Given the description of an element on the screen output the (x, y) to click on. 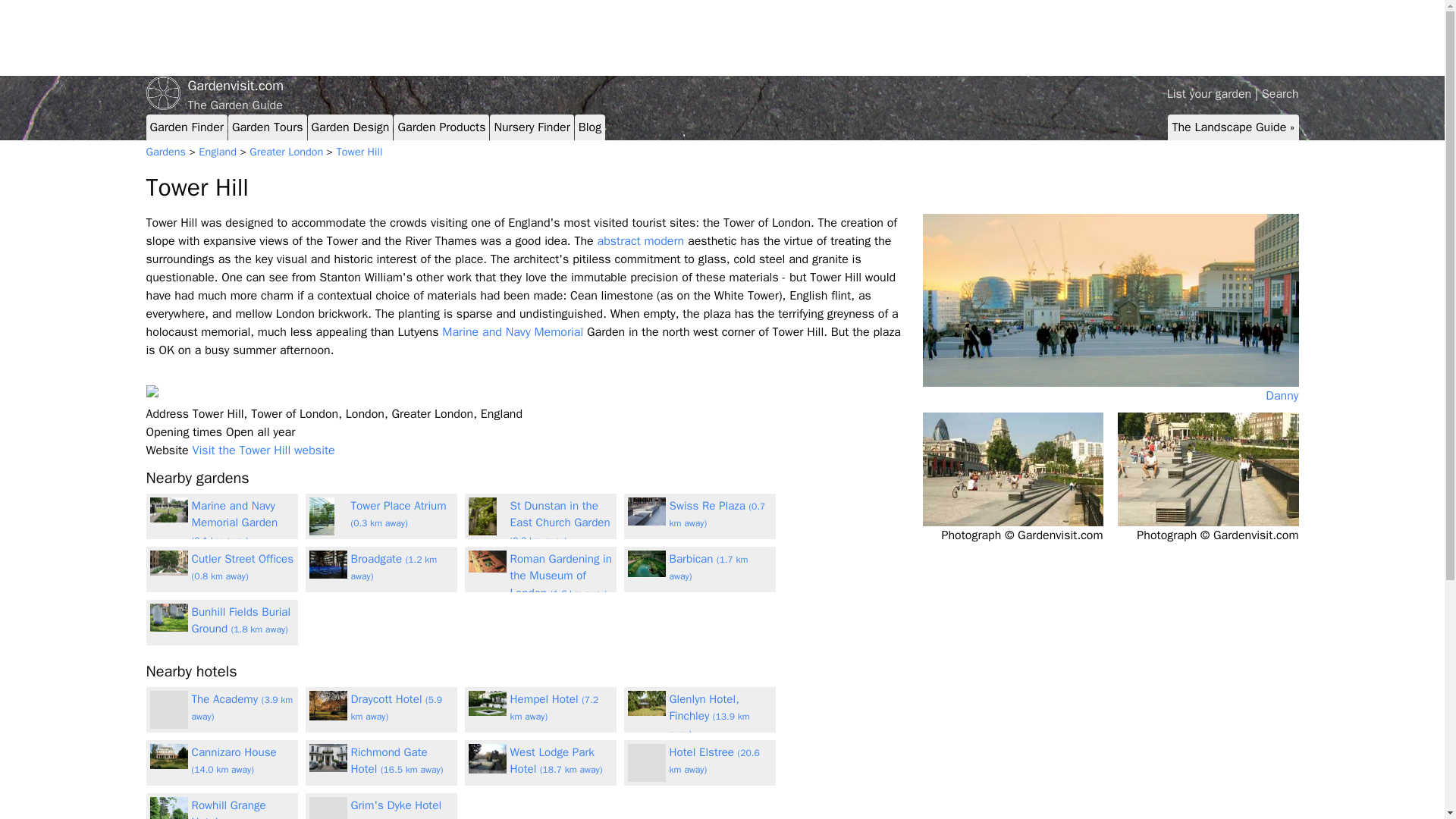
Garden Finder (186, 126)
Garden Products (440, 126)
Gardenvisit.com (721, 86)
Blog (589, 126)
3rd party ad content (421, 38)
3rd party ad content (1216, 38)
Search (1280, 93)
Garden Design (350, 126)
List your garden (1209, 93)
Garden Tours (266, 126)
